Given the description of an element on the screen output the (x, y) to click on. 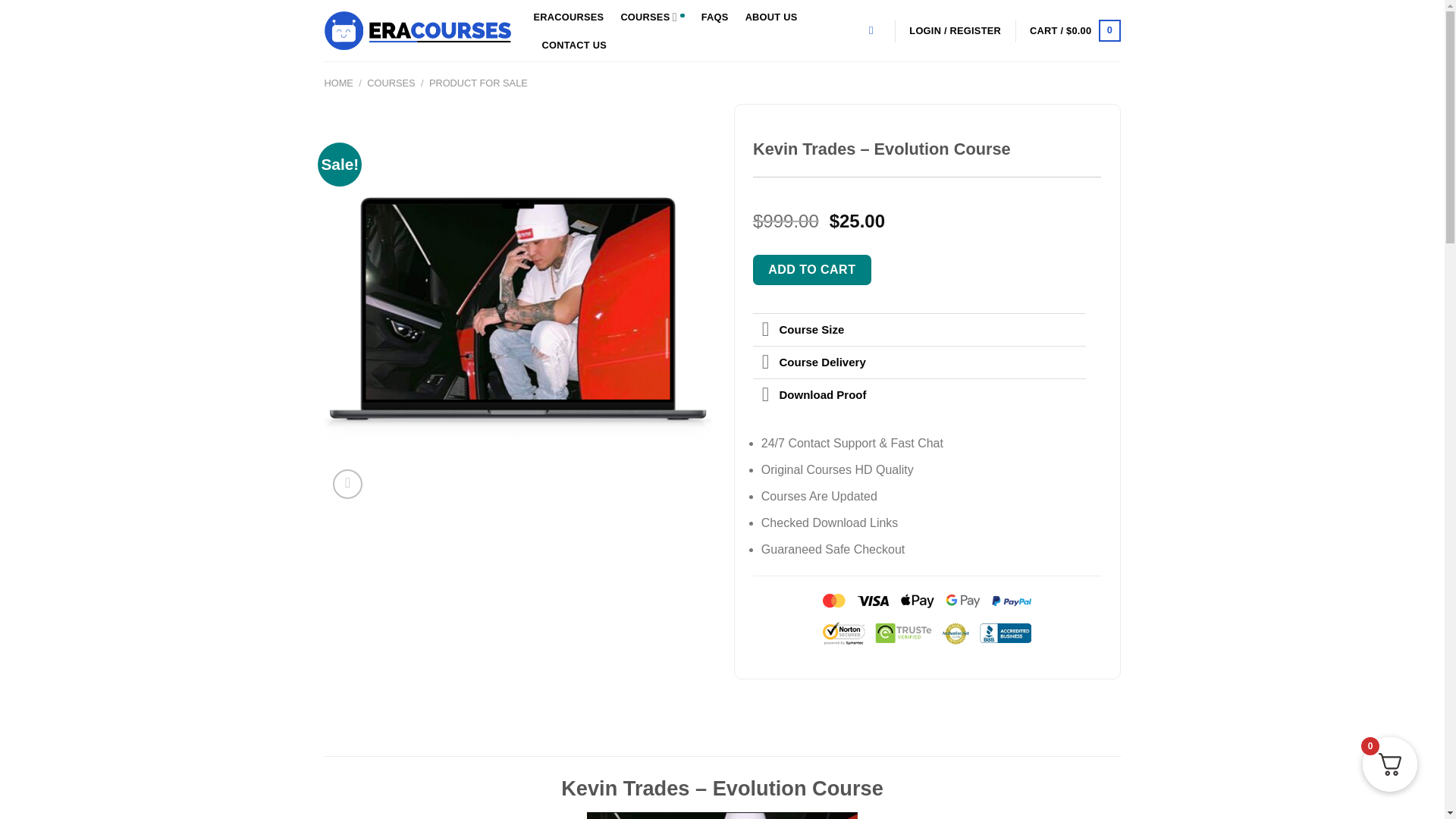
ERACOURSES (569, 16)
CONTACT US (574, 44)
COURSES (390, 82)
HOME (338, 82)
PRODUCT FOR SALE (478, 82)
Zoom (347, 483)
ADD TO CART (811, 269)
ABOUT US (771, 16)
FAQS (715, 16)
COURSES (652, 16)
